Given the description of an element on the screen output the (x, y) to click on. 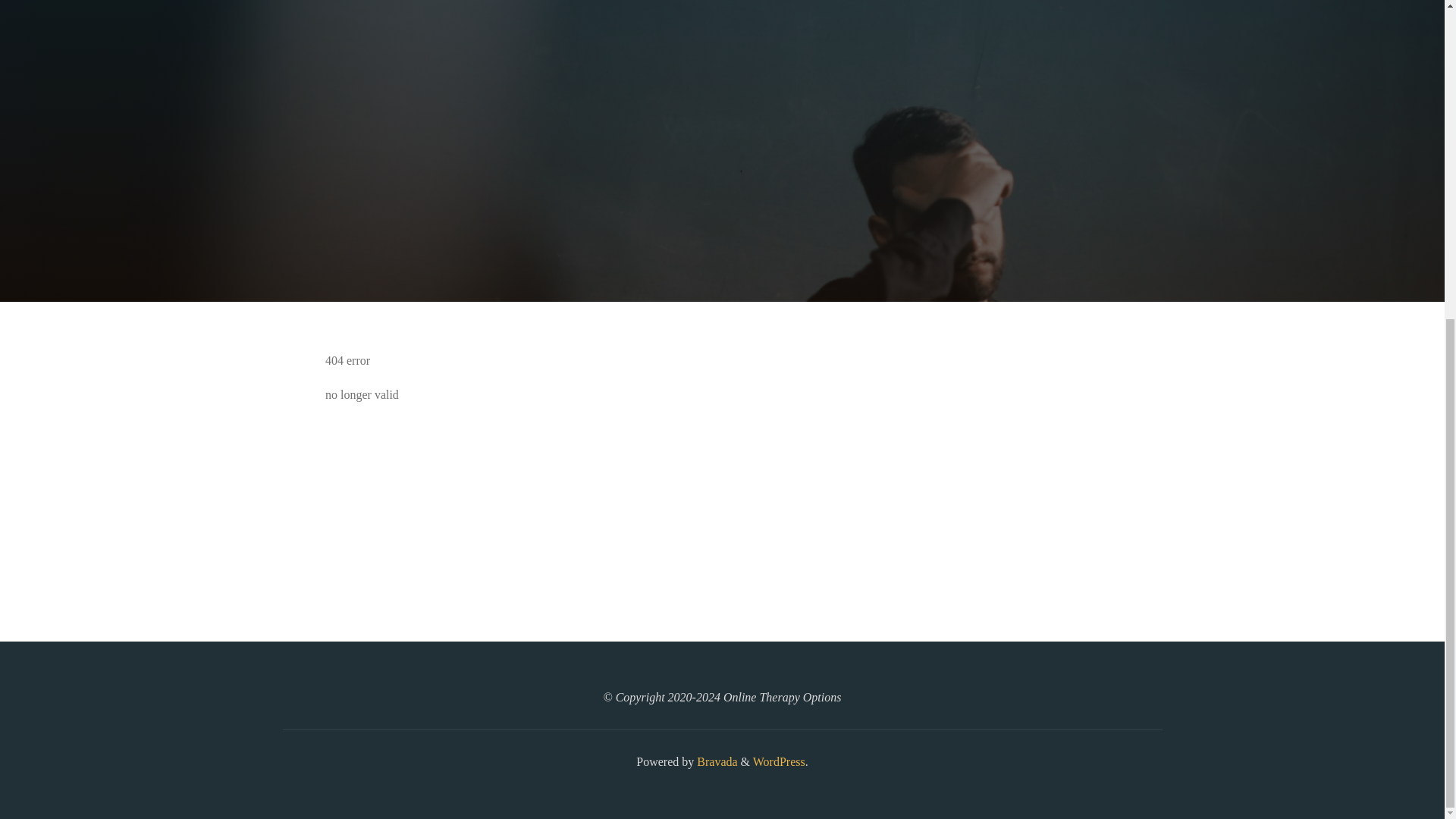
Read more (721, 207)
WordPress (778, 761)
Bravada WordPress Theme by Cryout Creations (715, 761)
Bravada (715, 761)
Semantic Personal Publishing Platform (778, 761)
